Given the description of an element on the screen output the (x, y) to click on. 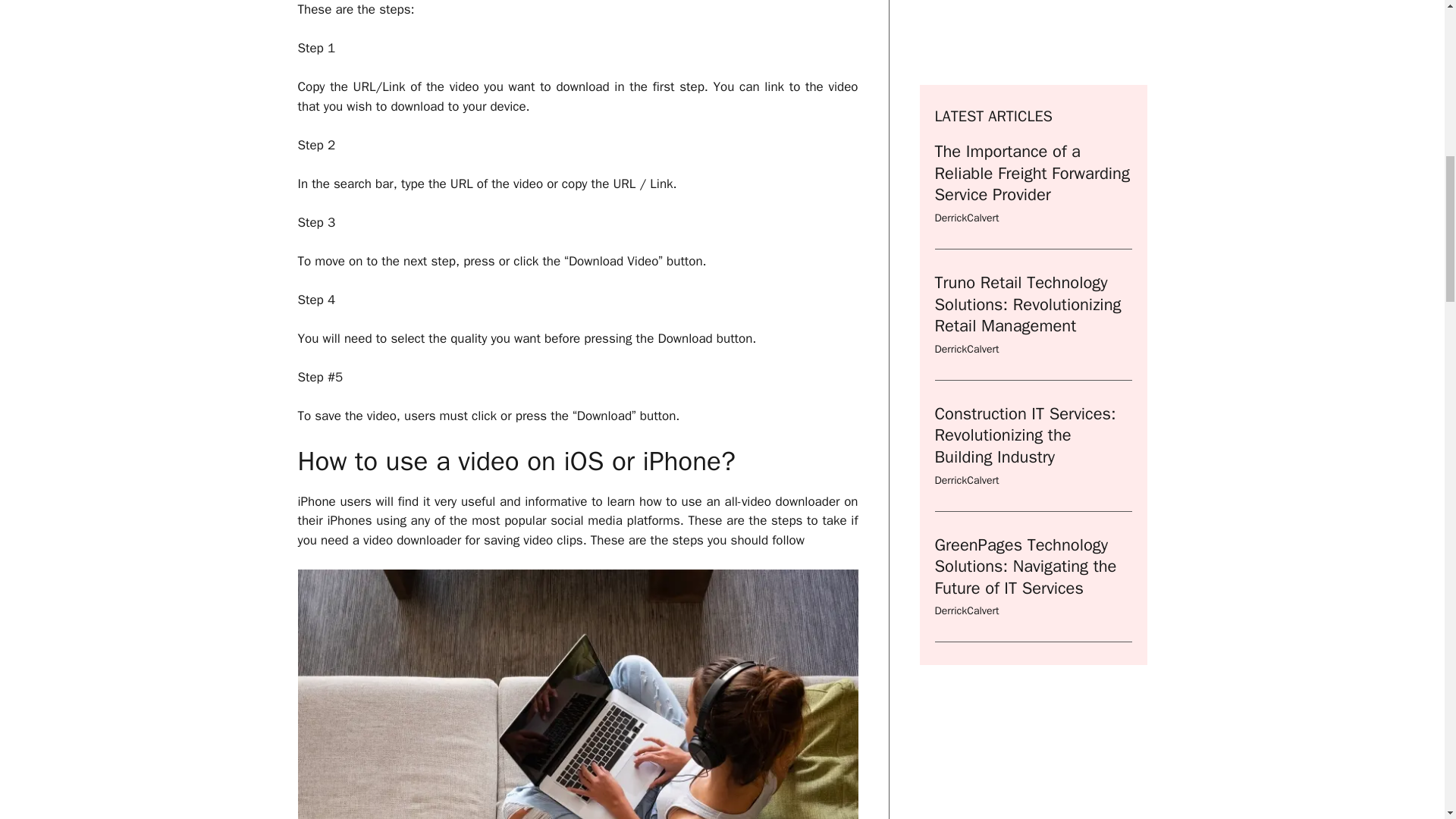
DerrickCalvert (966, 42)
